Given the description of an element on the screen output the (x, y) to click on. 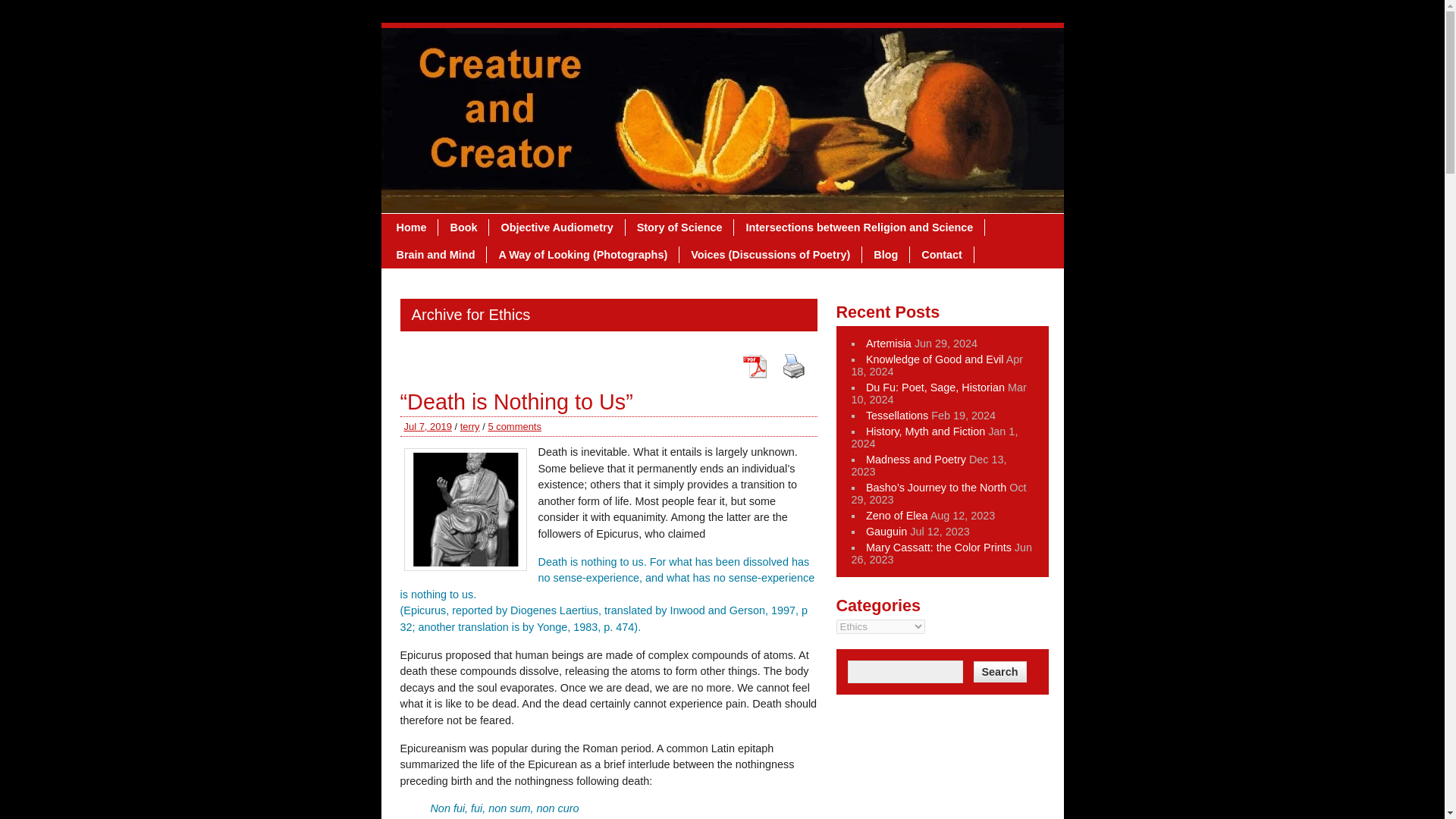
Print Content (793, 366)
Search (1000, 671)
Posts by terry (470, 426)
View PDF (754, 366)
Home (412, 227)
